Given the description of an element on the screen output the (x, y) to click on. 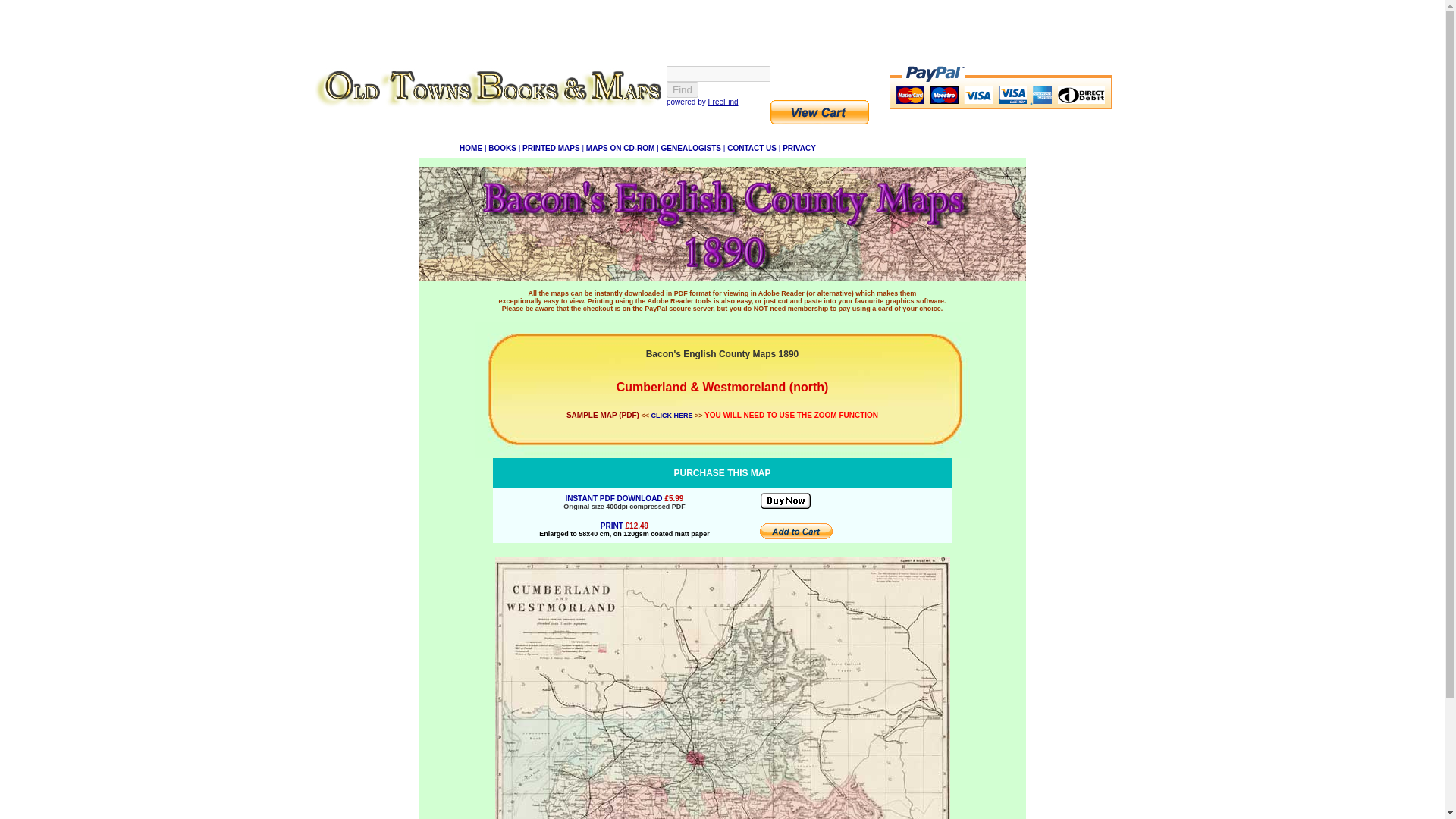
CLICK HERE (671, 415)
Find (682, 89)
GENEALOGISTS (690, 148)
PRINTED MAPS (549, 148)
BOOKS (502, 148)
FreeFind (722, 101)
PRIVACY (799, 148)
MAPS ON CD-ROM (619, 148)
HOME (470, 148)
CONTACT US (751, 148)
